Given the description of an element on the screen output the (x, y) to click on. 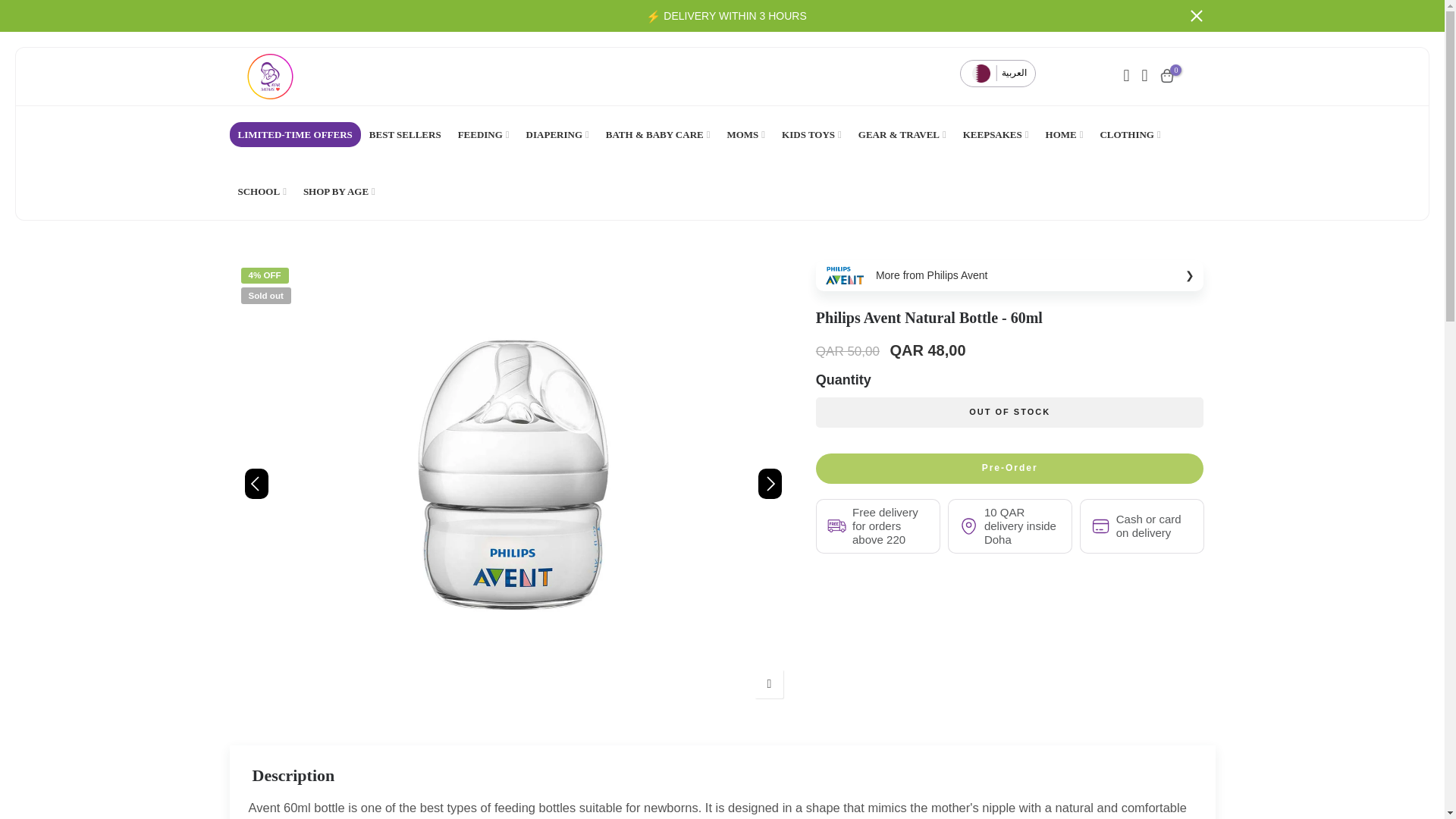
FEEDING (483, 134)
0 (1166, 75)
LIMITED-TIME OFFERS (293, 134)
BEST SELLERS (405, 134)
